Given the description of an element on the screen output the (x, y) to click on. 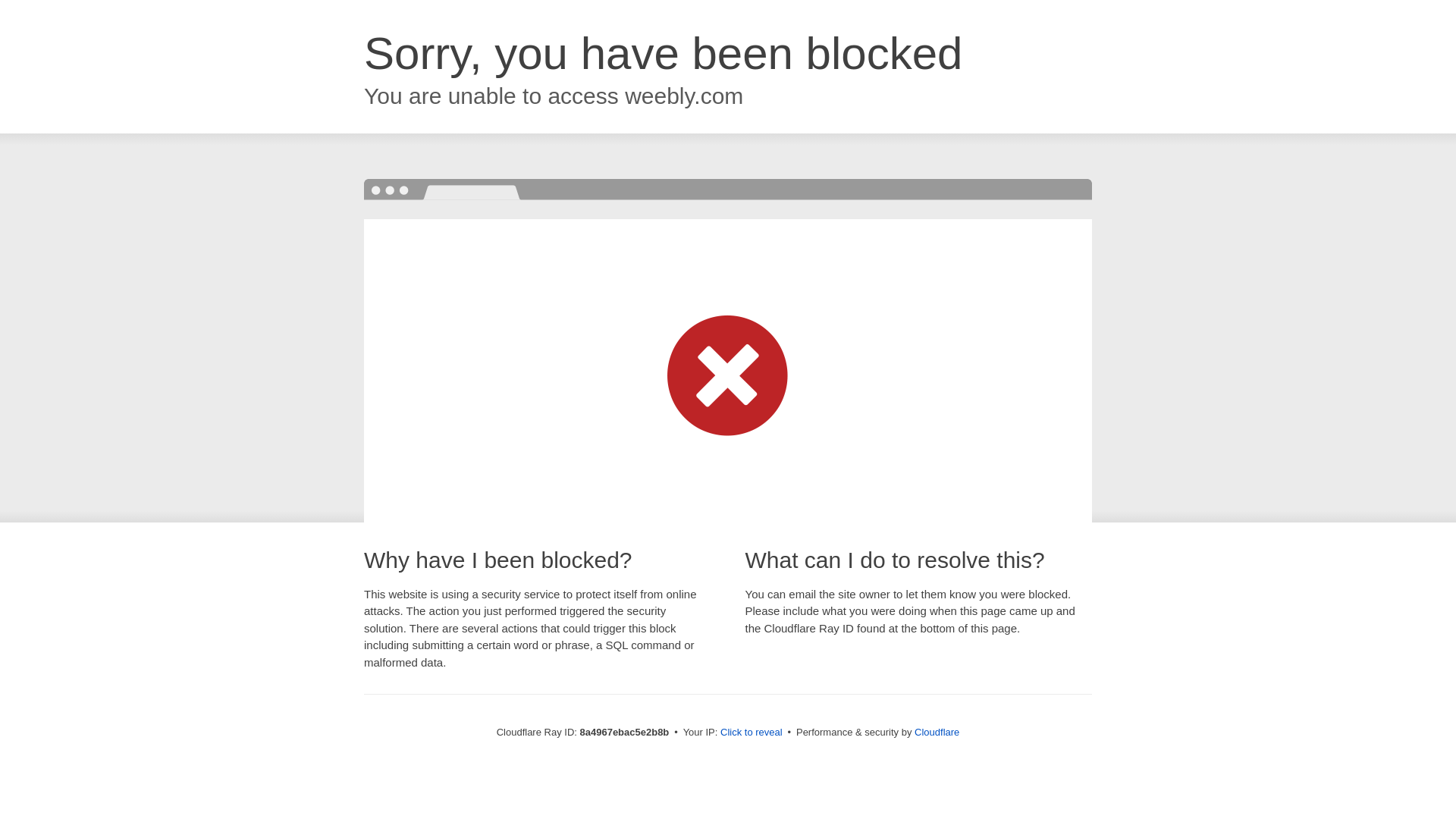
Cloudflare (936, 731)
Click to reveal (751, 732)
